Given the description of an element on the screen output the (x, y) to click on. 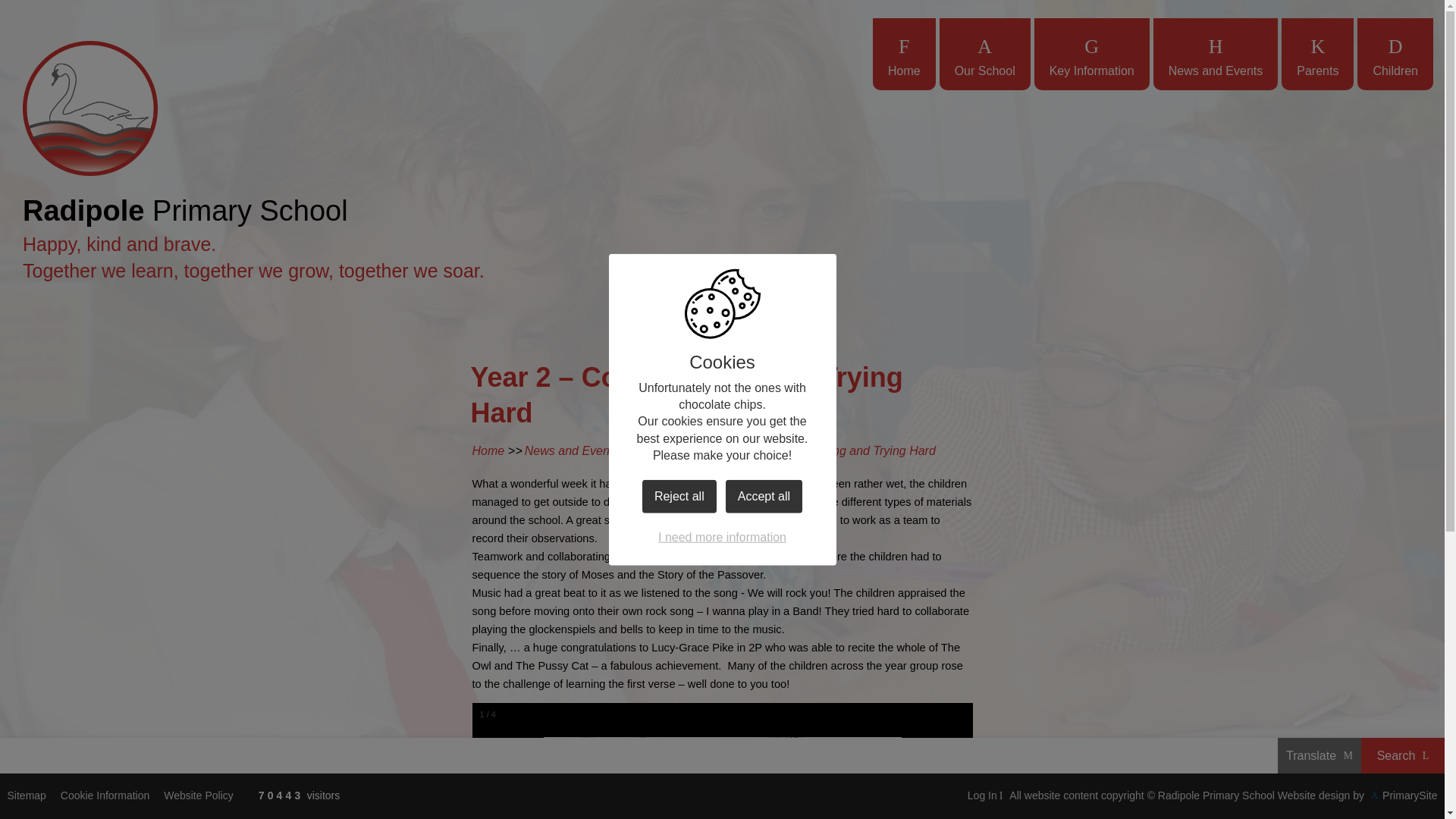
Key Information (1091, 54)
Home Page (90, 108)
Our School (984, 54)
